Given the description of an element on the screen output the (x, y) to click on. 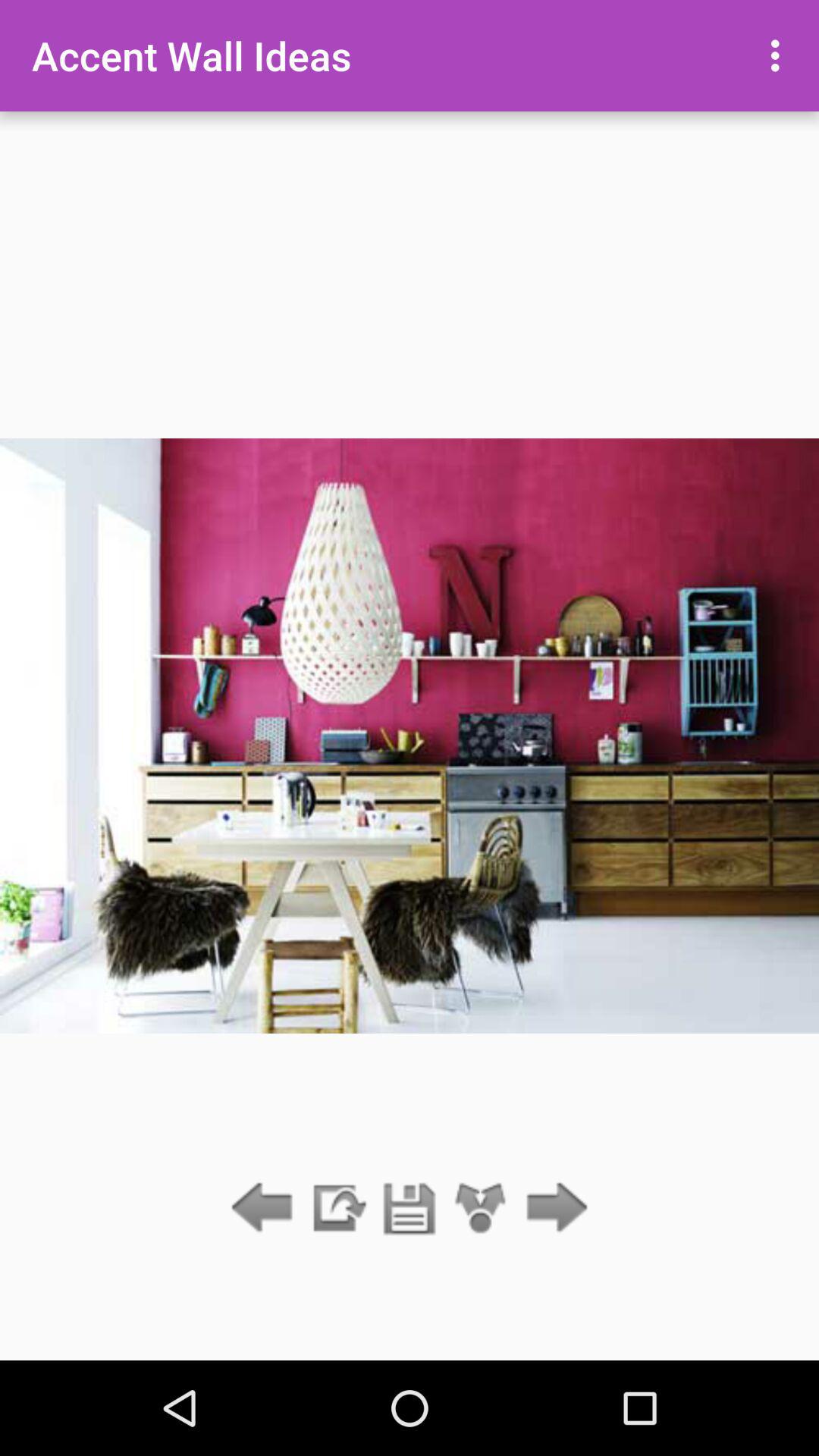
share with someone (480, 1208)
